Given the description of an element on the screen output the (x, y) to click on. 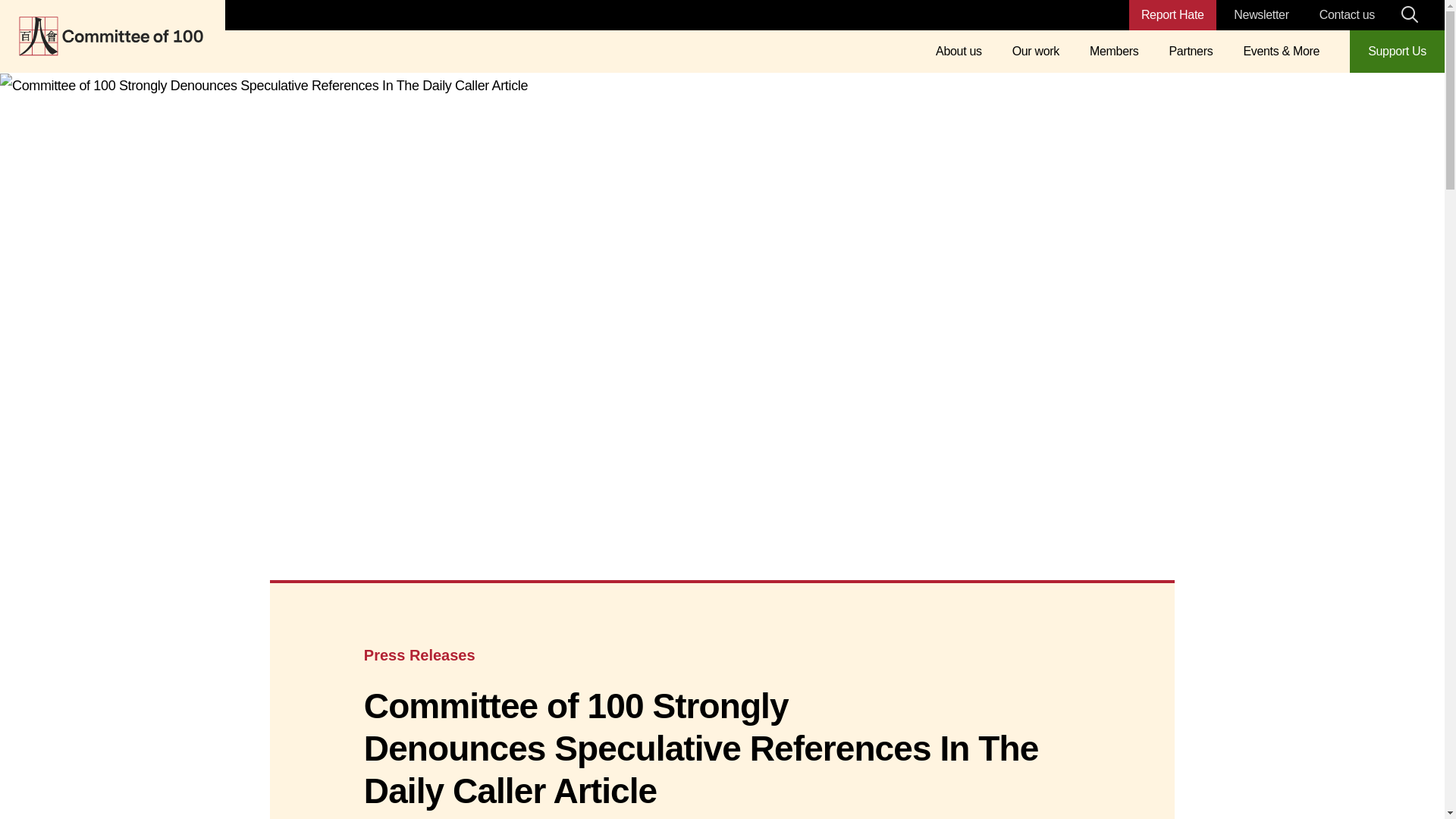
About us (958, 51)
Our work (1035, 51)
Report Hate (1172, 15)
Contact us (1346, 14)
Members (1113, 51)
Partners (1190, 51)
Newsletter (1260, 14)
